Given the description of an element on the screen output the (x, y) to click on. 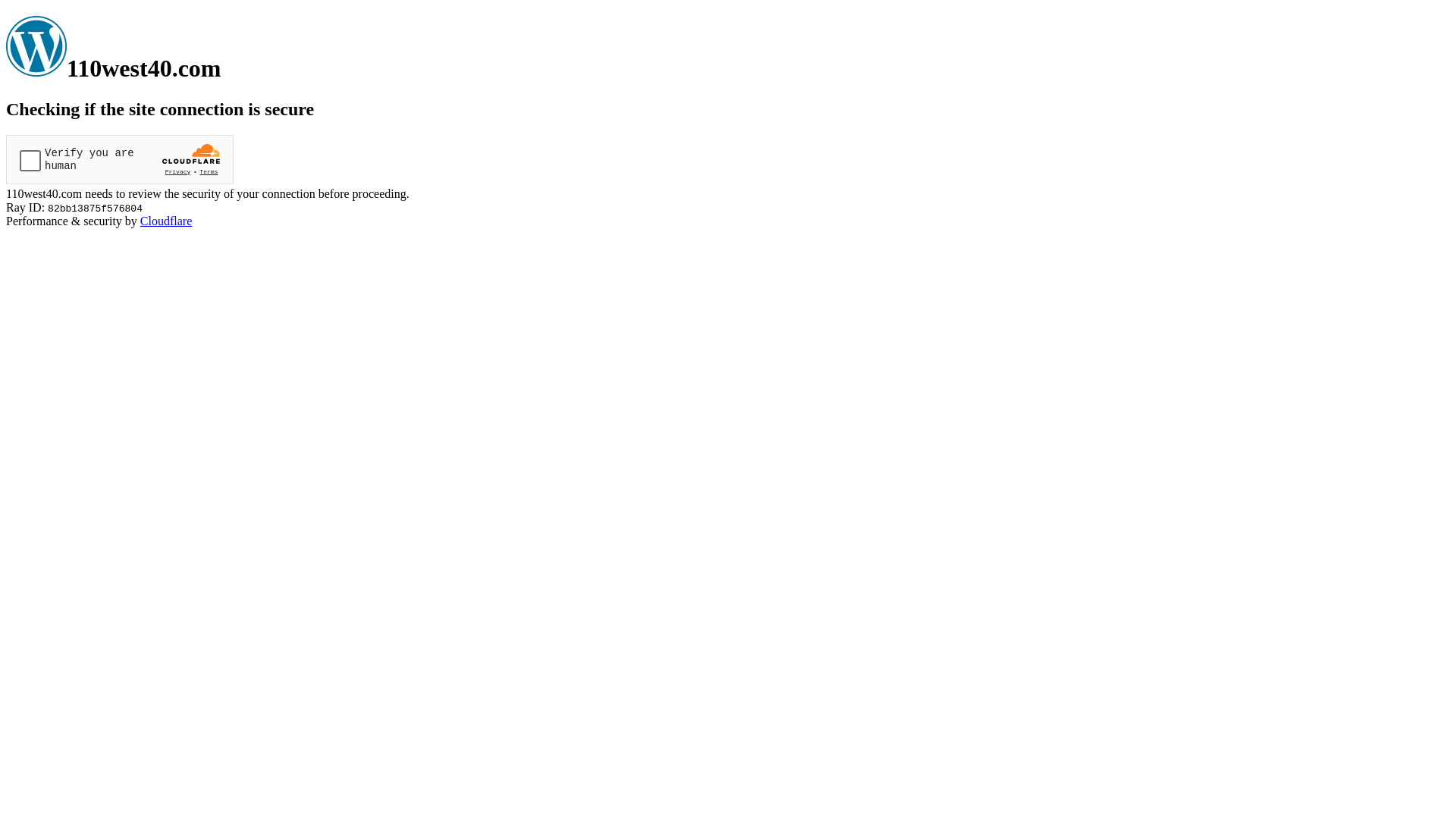
Widget containing a Cloudflare security challenge Element type: hover (119, 159)
Cloudflare Element type: text (165, 220)
